Given the description of an element on the screen output the (x, y) to click on. 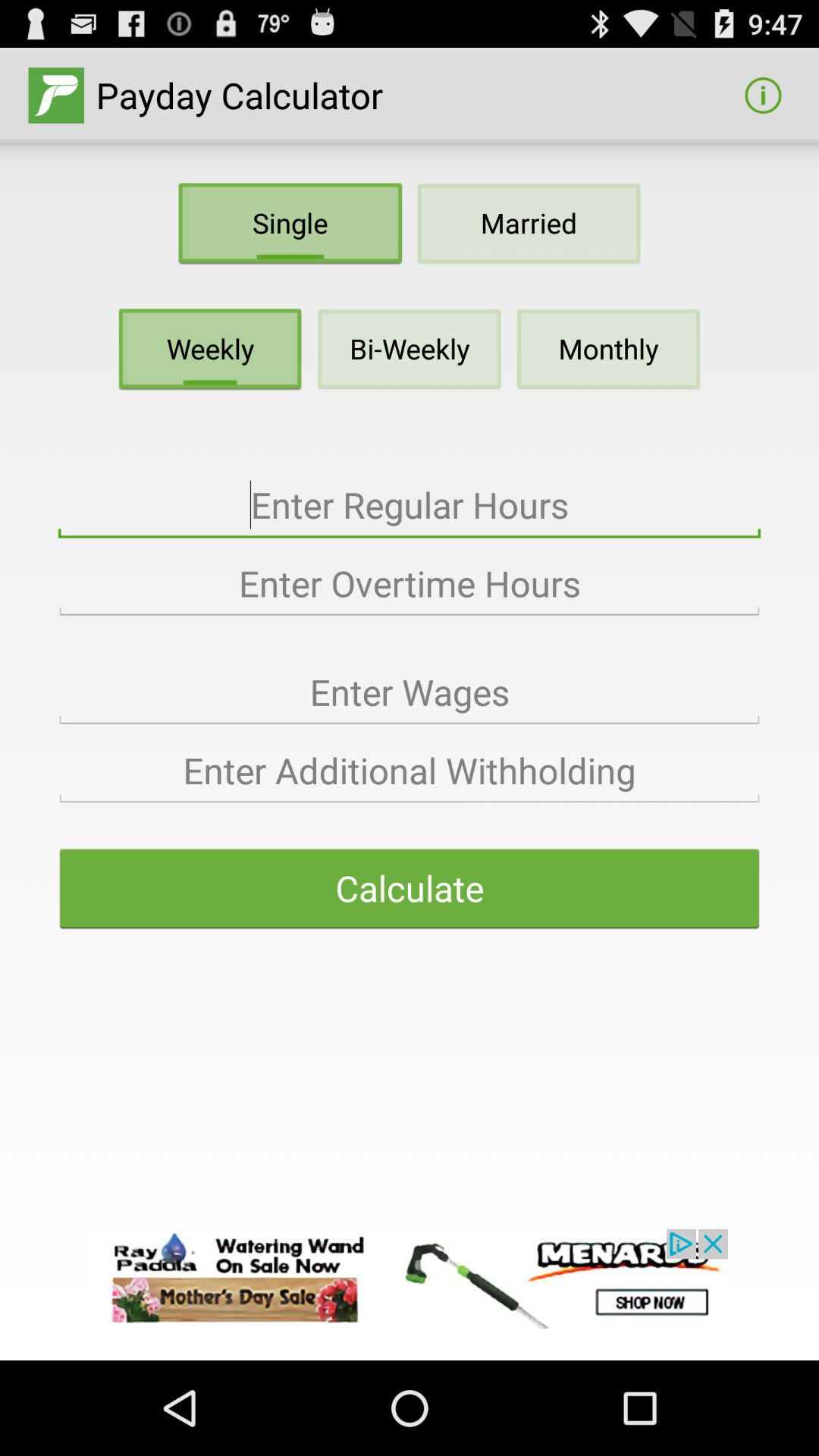
enter text (409, 505)
